Given the description of an element on the screen output the (x, y) to click on. 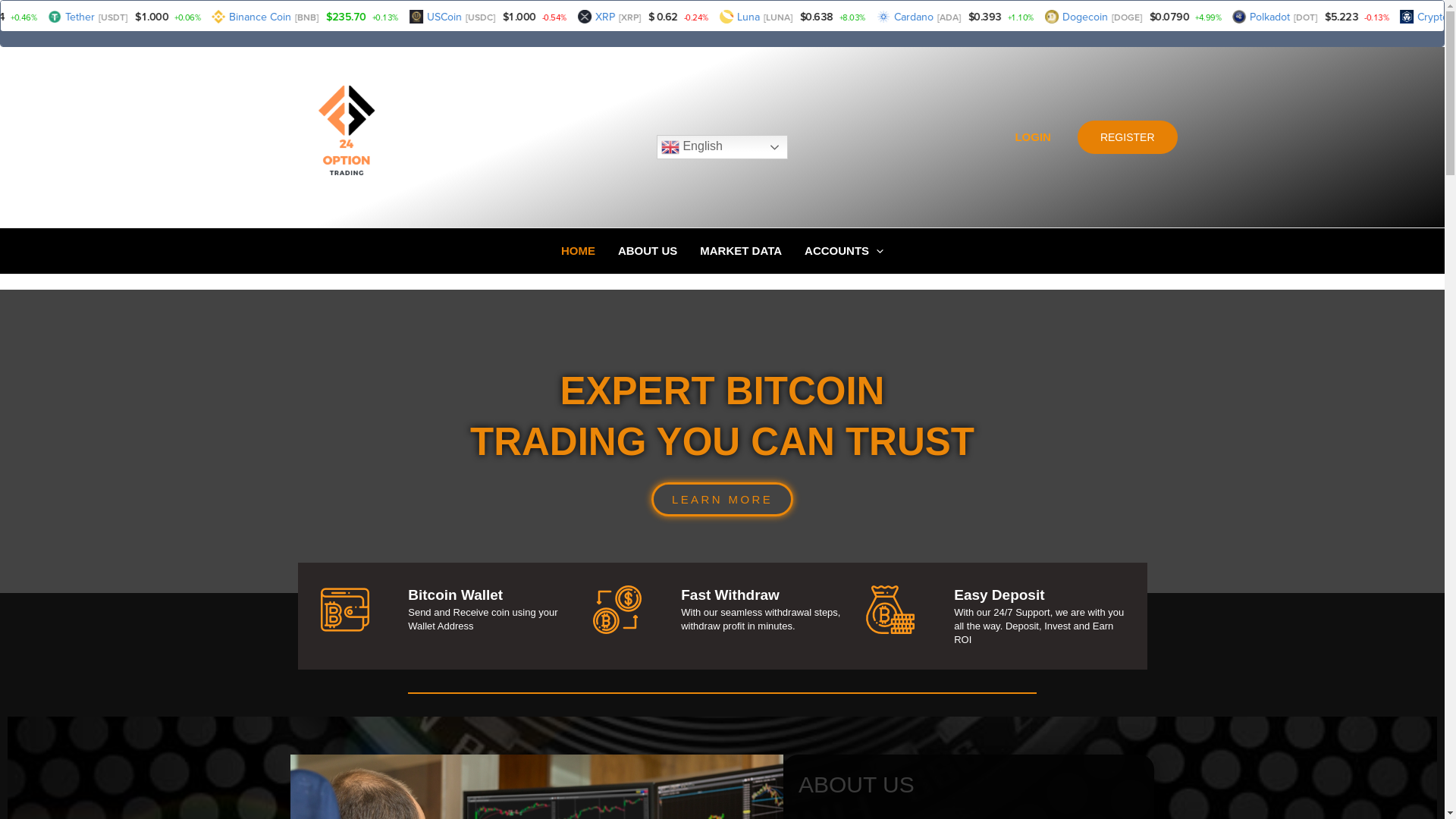
LEARN MORE Element type: text (722, 499)
LOGIN Element type: text (1032, 136)
English Element type: text (721, 146)
HOME Element type: text (577, 250)
MARKET DATA Element type: text (740, 250)
ABOUT US Element type: text (647, 250)
REGISTER Element type: text (1127, 136)
ACCOUNTS Element type: text (843, 250)
